Given the description of an element on the screen output the (x, y) to click on. 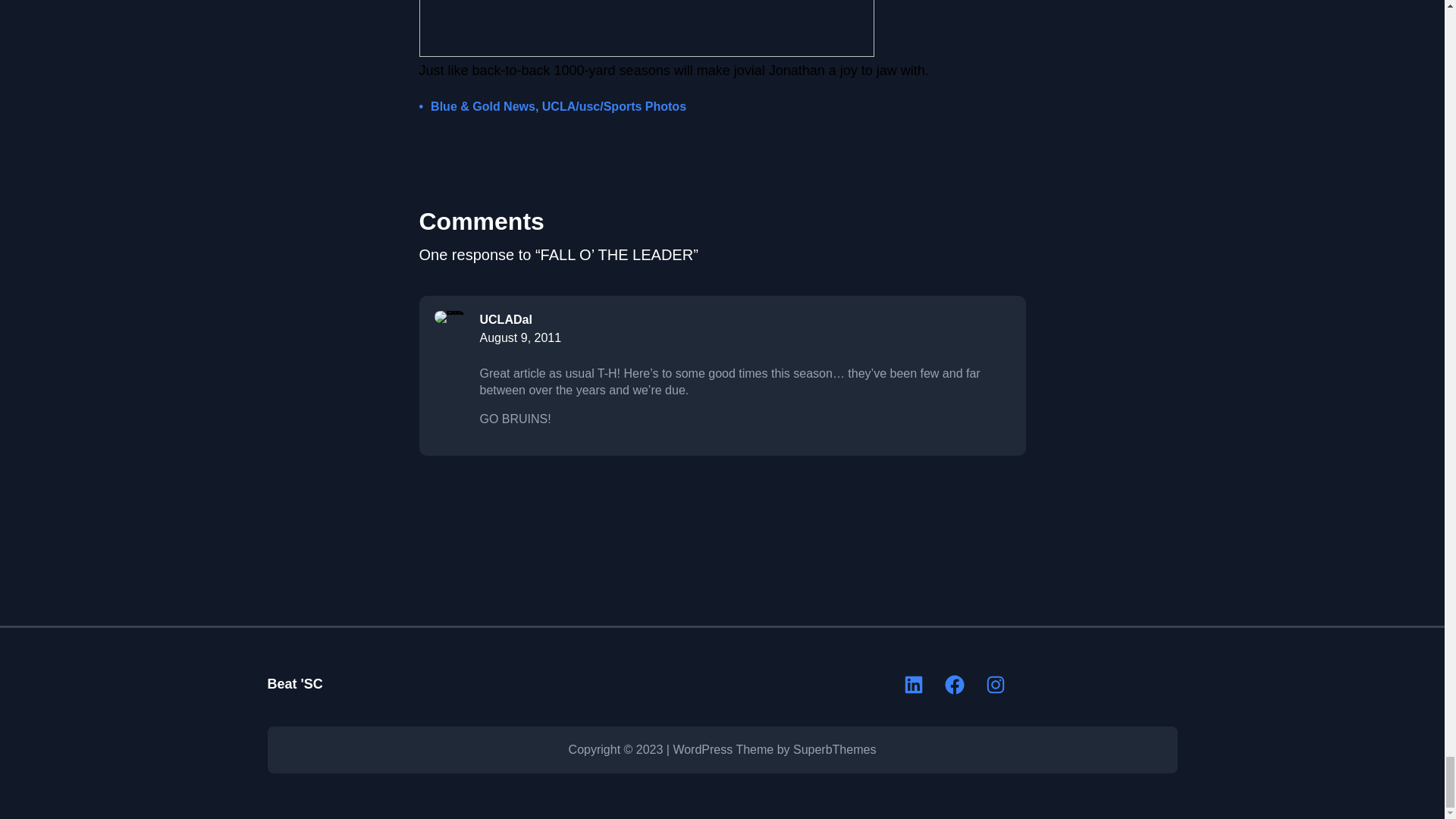
LinkedIn (913, 684)
SuperbThemes (834, 748)
Instagram (995, 684)
August 9, 2011 (519, 337)
Facebook (954, 684)
Beat 'SC (293, 683)
